Given the description of an element on the screen output the (x, y) to click on. 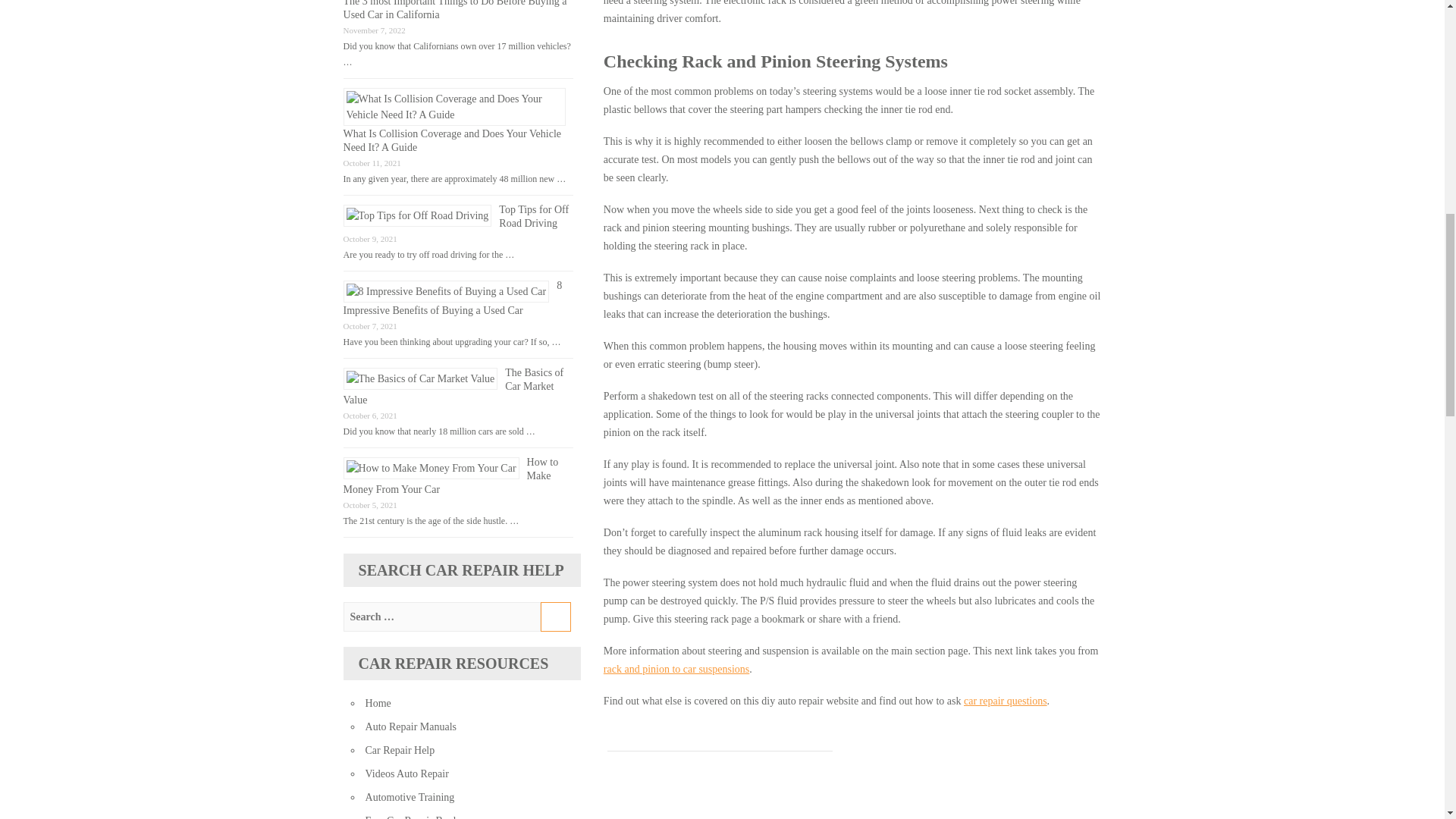
Permalink to Top Tips for Off Road Driving (534, 216)
Search (555, 616)
car repair questions (1004, 700)
Search (555, 616)
Permalink to The Basics of Car Market Value (453, 385)
Permalink to 8 Impressive Benefits of Buying a Used Car (452, 298)
rack and pinion to car suspensions (676, 668)
Permalink to How to Make Money From Your Car (451, 475)
